Given the description of an element on the screen output the (x, y) to click on. 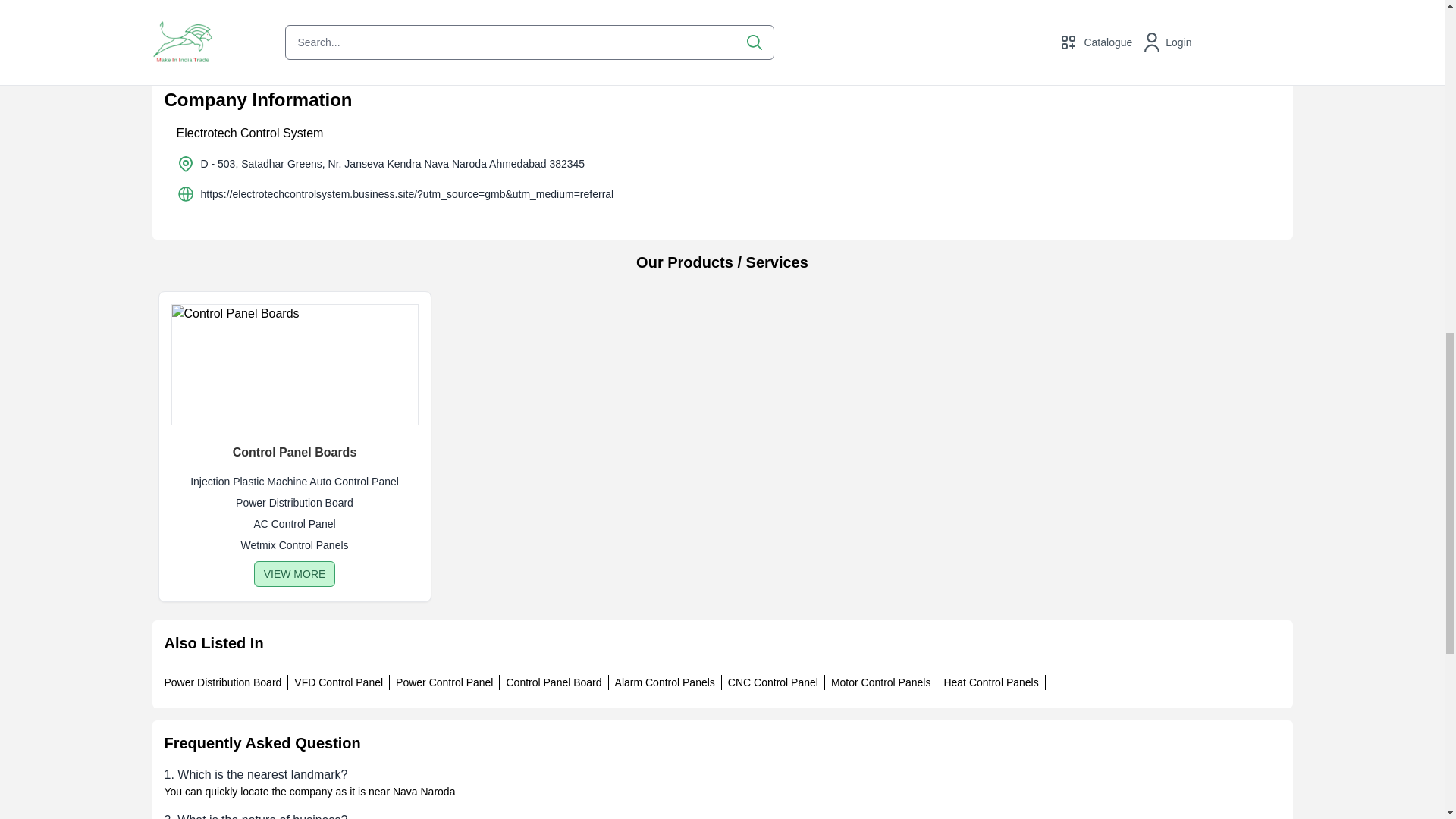
Motor Control Panels (881, 682)
Alarm Control Panels (664, 682)
VFD Control Panel (338, 682)
Power Distribution Board (222, 682)
AC Control Panel (294, 523)
CNC Control Panel (773, 682)
VIEW MORE (294, 574)
Control Panel Boards (294, 452)
Injection Plastic Machine Auto Control Panel (294, 481)
Power Control Panel (444, 682)
Wetmix Control Panels (294, 544)
Control Panel Board (553, 682)
Heat Control Panels (990, 682)
Power Distribution Board (294, 502)
